Given the description of an element on the screen output the (x, y) to click on. 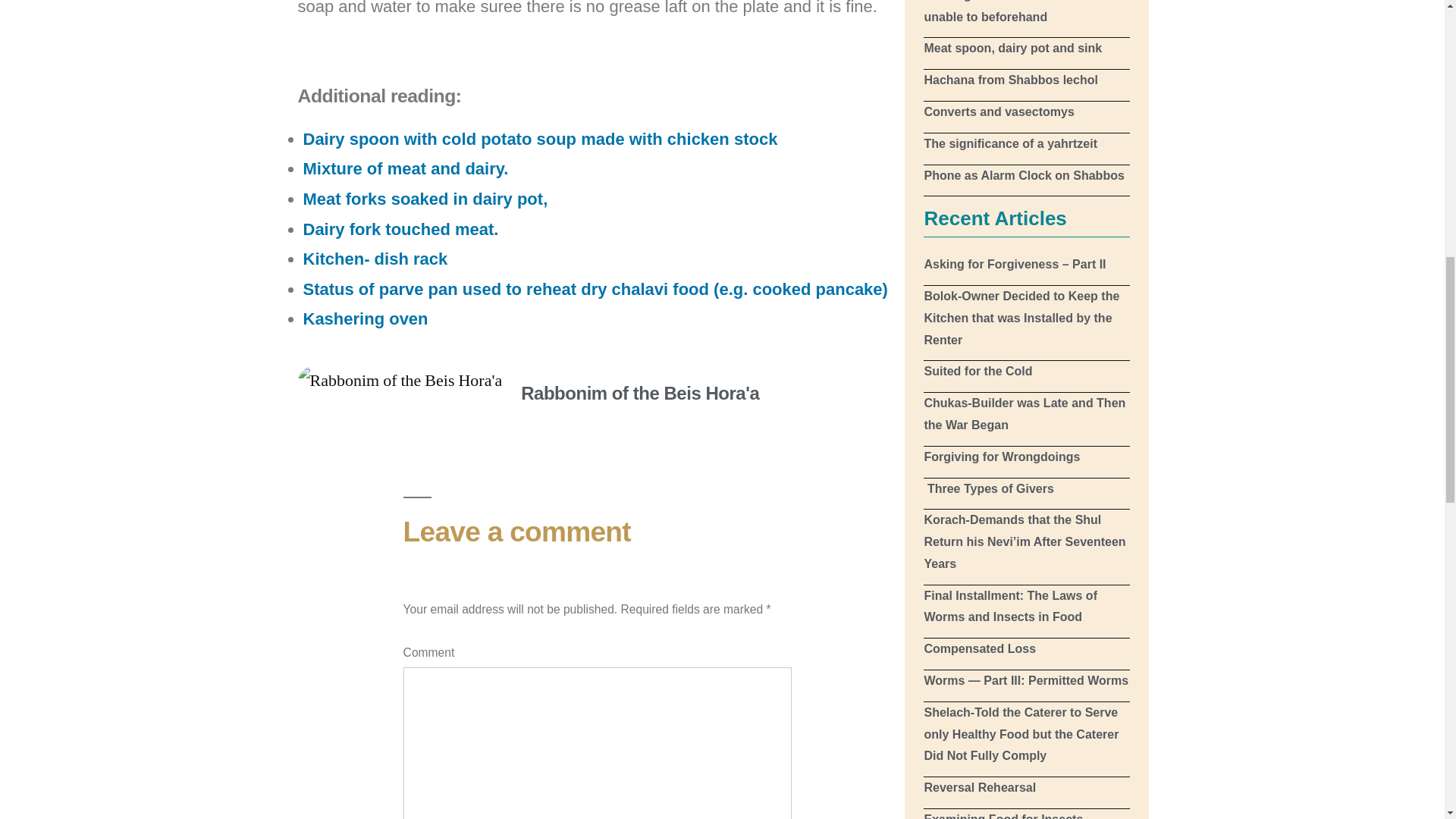
Meat forks soaked in dairy pot, (425, 198)
Kashering oven (365, 318)
Dairy fork touched meat. (400, 229)
Mixture of meat and dairy. (405, 168)
Kashering oven (365, 318)
Kitchen- dish rack (375, 258)
Mixture of meat and dairy. (405, 168)
Meat forks soaked in dairy pot, (425, 198)
Kitchen- dish rack (375, 258)
Dairy spoon with cold potato soup made with chicken stock (539, 138)
Dairy fork touched meat. (400, 229)
Dairy spoon with cold potato soup made with chicken stock (539, 138)
